Given the description of an element on the screen output the (x, y) to click on. 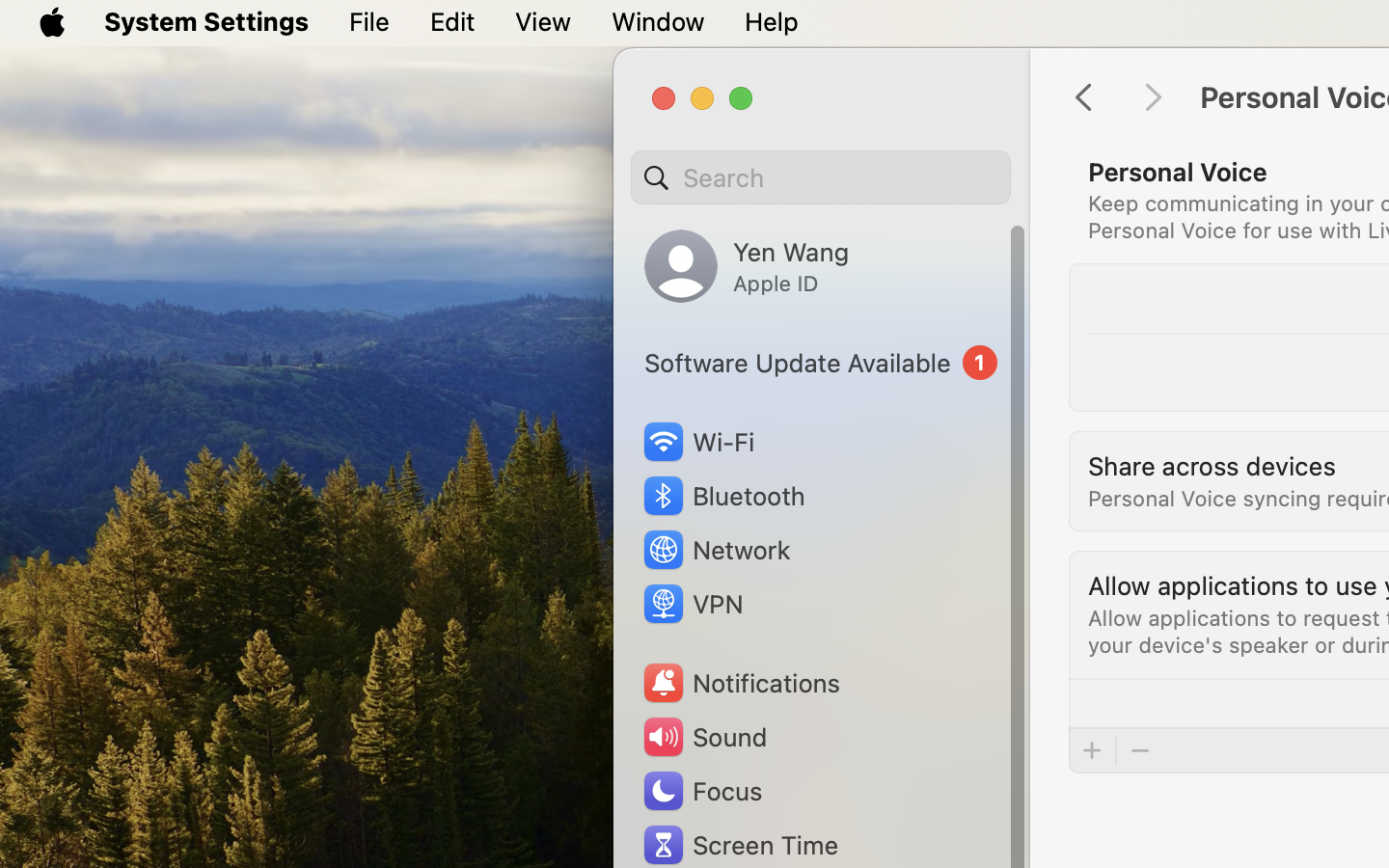
Share across devices Element type: AXStaticText (1212, 464)
